Given the description of an element on the screen output the (x, y) to click on. 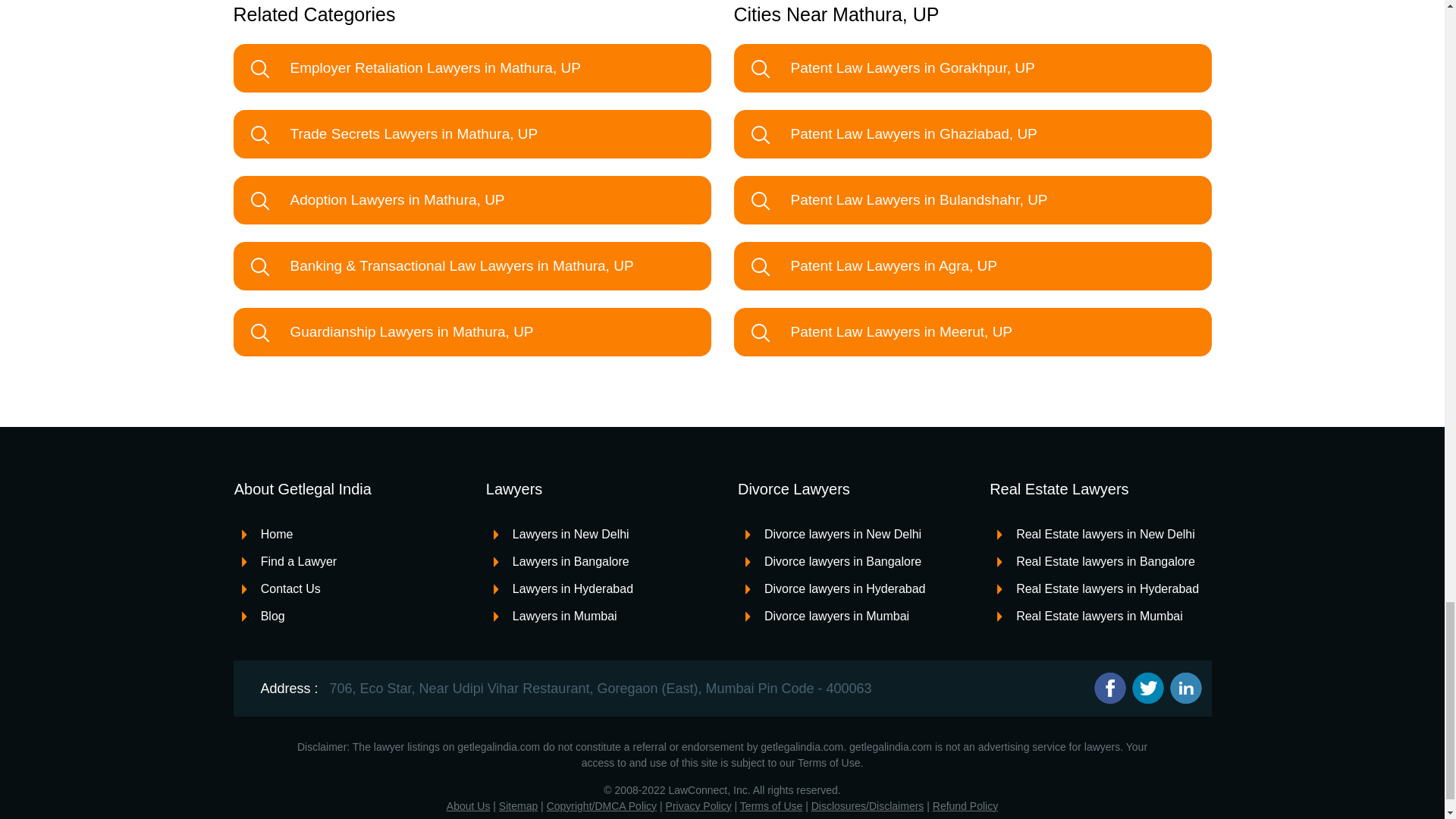
Patent Law Lawyers in Meerut, UP (972, 331)
Patent Law Lawyers in Gorakhpur, UP (972, 68)
Lawyers in Bangalore (560, 561)
Adoption Lawyers in Mathura, UP (471, 200)
Lawyers in New Delhi (560, 533)
Patent Law Lawyers in Meerut, UP (972, 331)
Divorce lawyers in Bangalore (833, 561)
Lawyers in Mumbai (555, 615)
Patent Law Lawyers in Agra, UP (972, 265)
Contact Us (280, 588)
